Given the description of an element on the screen output the (x, y) to click on. 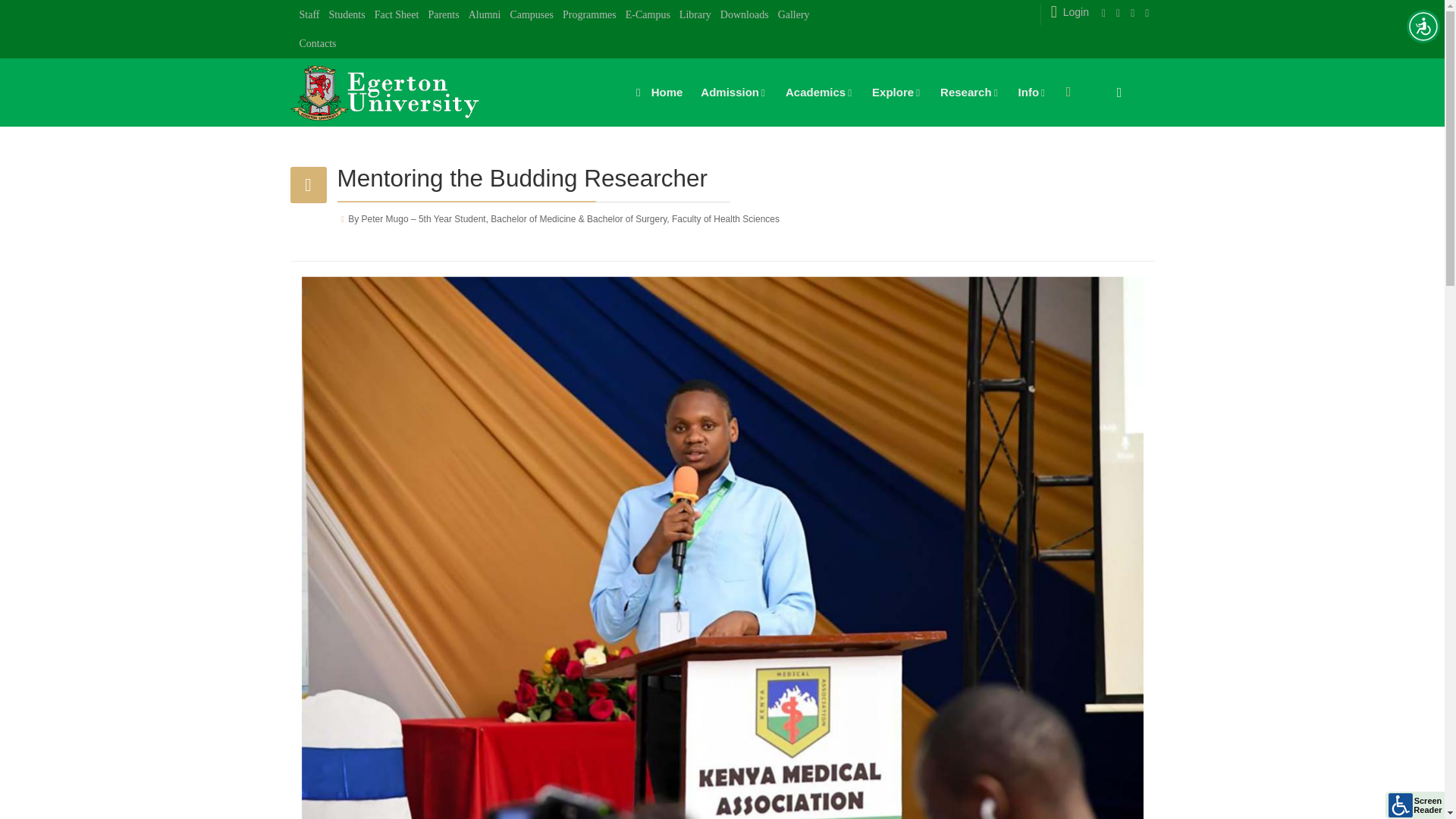
Downloads (744, 14)
Menu (1068, 91)
Login (1068, 11)
Programmes (589, 14)
E-Campus (647, 14)
Alumni (484, 14)
Fact Sheet (397, 14)
Staff (309, 14)
Admission (733, 92)
Campuses (531, 14)
Parents (443, 14)
Home (655, 92)
Accessibility Menu (1422, 26)
Students (346, 14)
Gallery (793, 14)
